Given the description of an element on the screen output the (x, y) to click on. 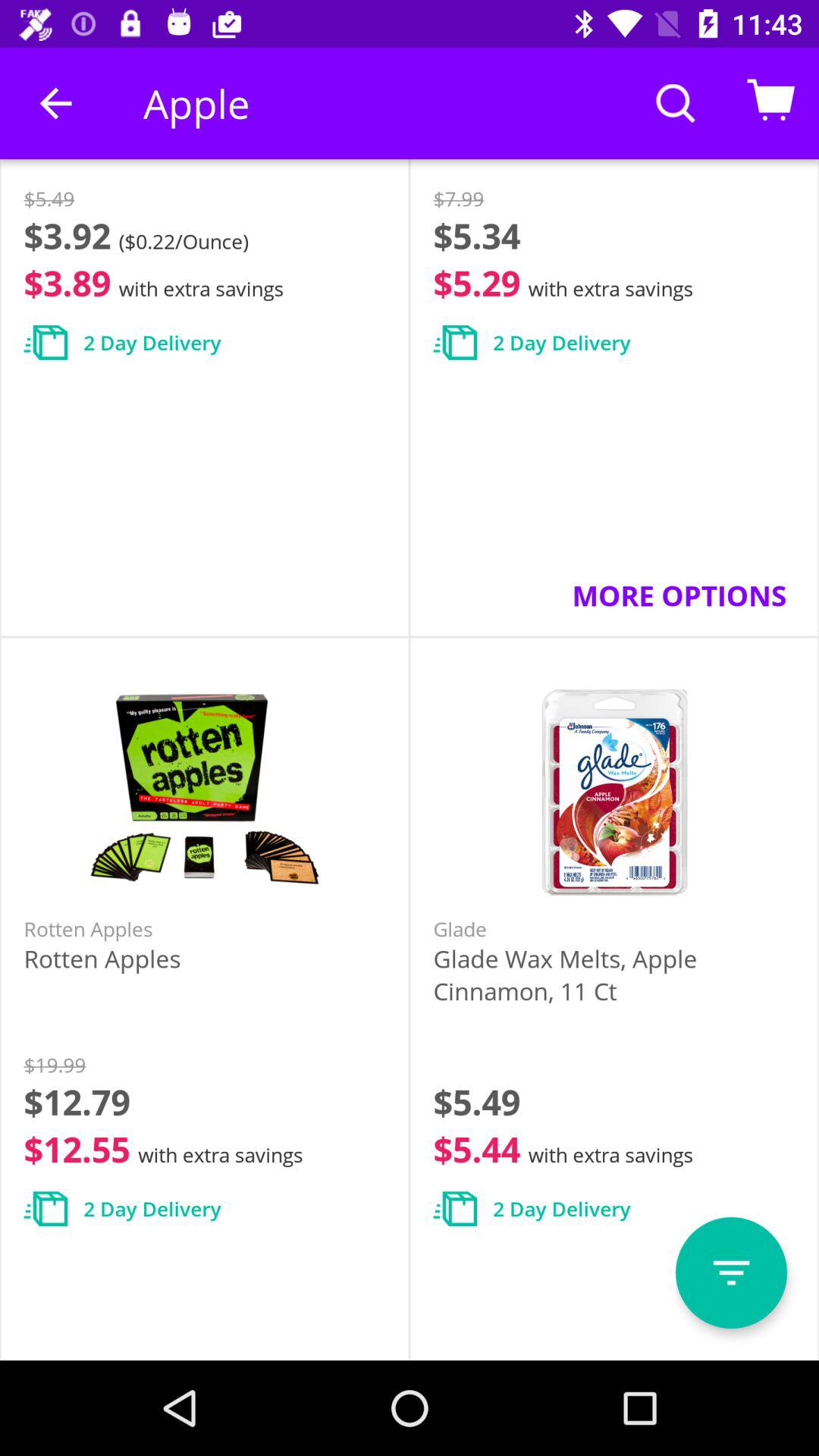
click on the search icon at the top right corner of the page (675, 103)
